Given the description of an element on the screen output the (x, y) to click on. 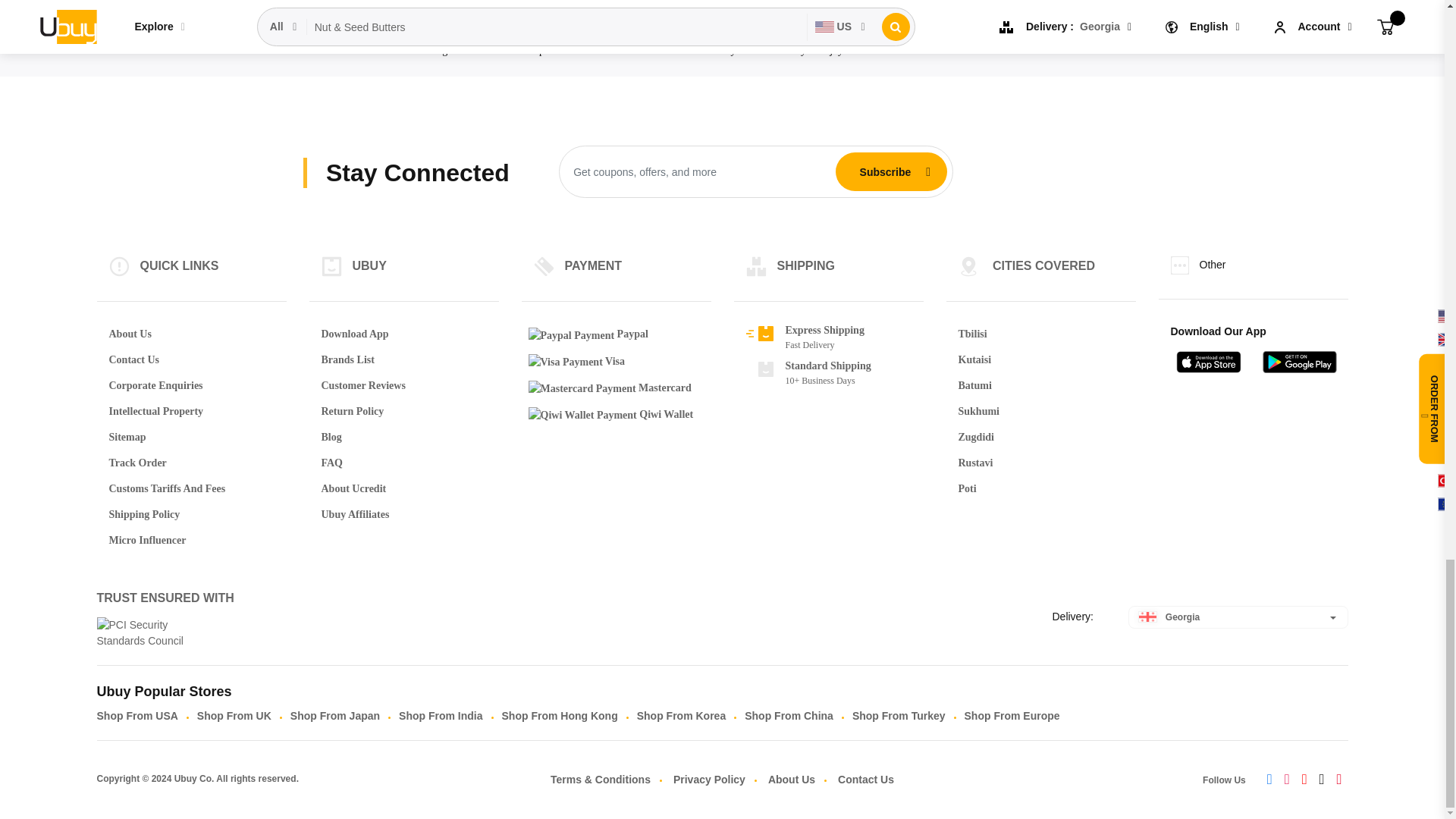
Subscribe (885, 172)
